Given the description of an element on the screen output the (x, y) to click on. 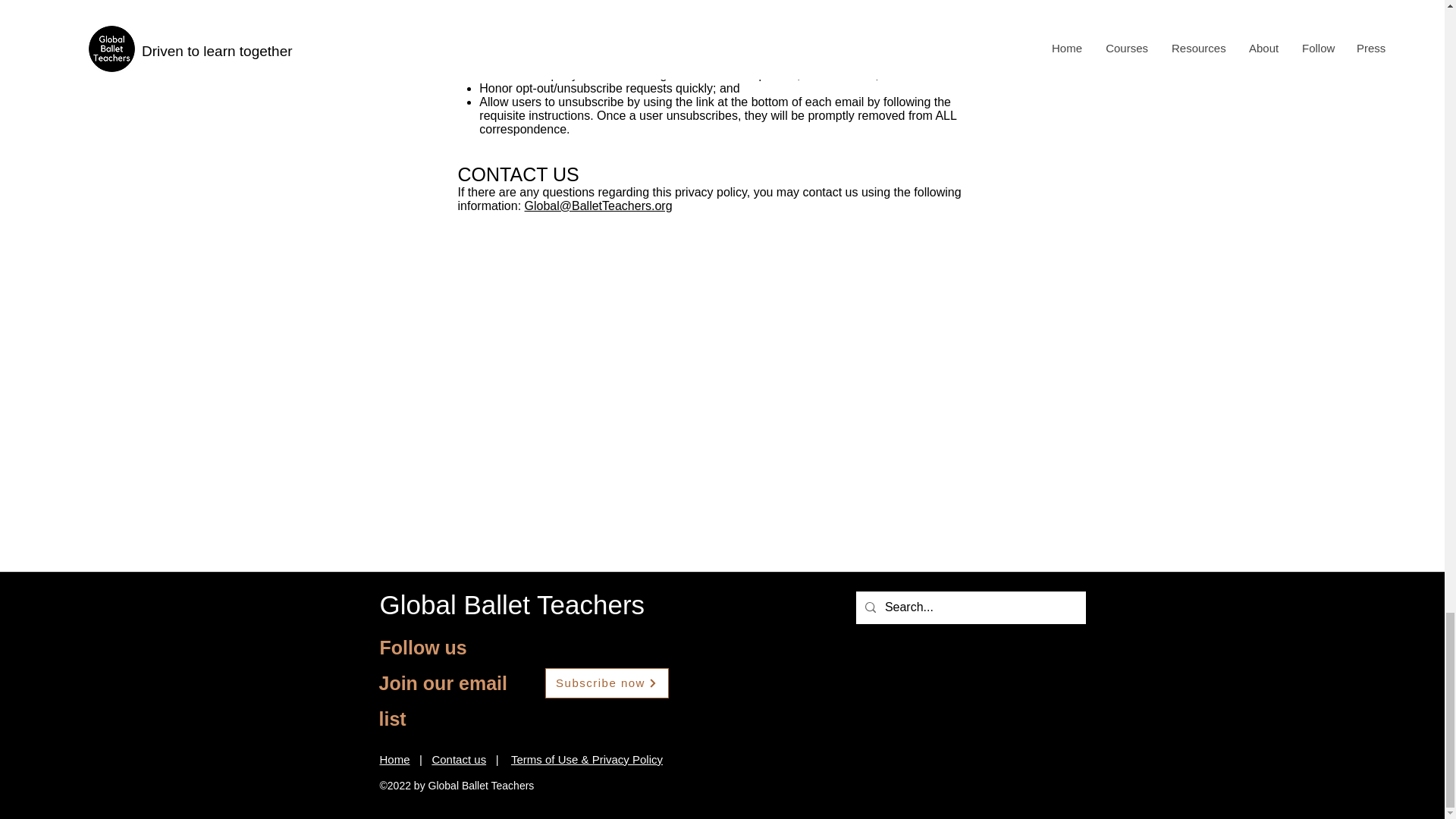
Global Ballet Teachers (511, 604)
Contact us (458, 758)
Subscribe now (606, 683)
Home (393, 758)
